Given the description of an element on the screen output the (x, y) to click on. 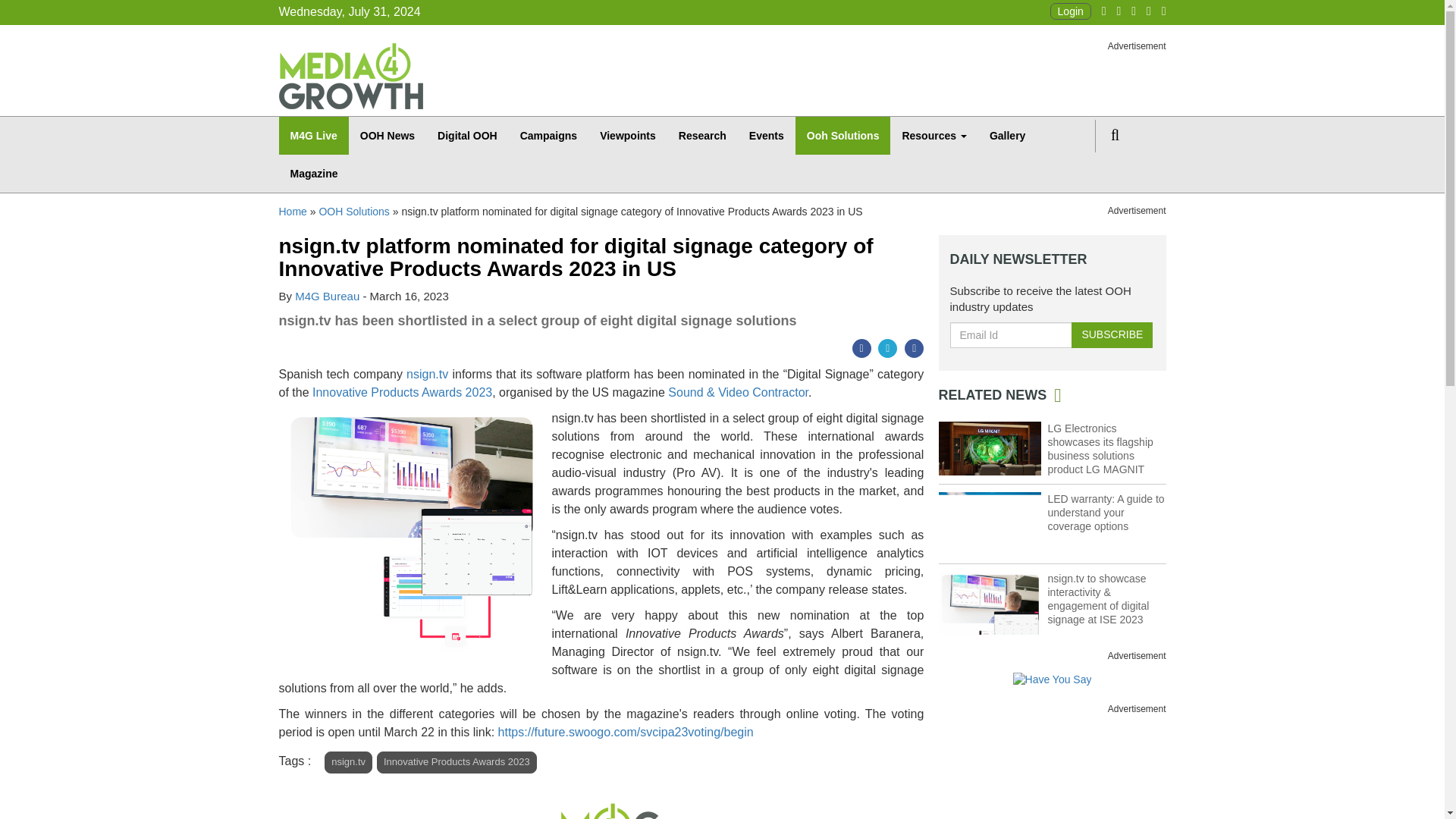
Viewpoints (627, 135)
Innovative Products Awards 2023 (402, 391)
nsign.tv (427, 373)
Login (1069, 11)
Magazine (314, 173)
OOH News (387, 135)
OOH Solutions (353, 211)
M4G Live (314, 135)
Campaigns (548, 135)
Gallery (1007, 135)
Research (702, 135)
Digital OOH (467, 135)
M4G Bureau (327, 295)
Events (766, 135)
Have You Say (1052, 679)
